Given the description of an element on the screen output the (x, y) to click on. 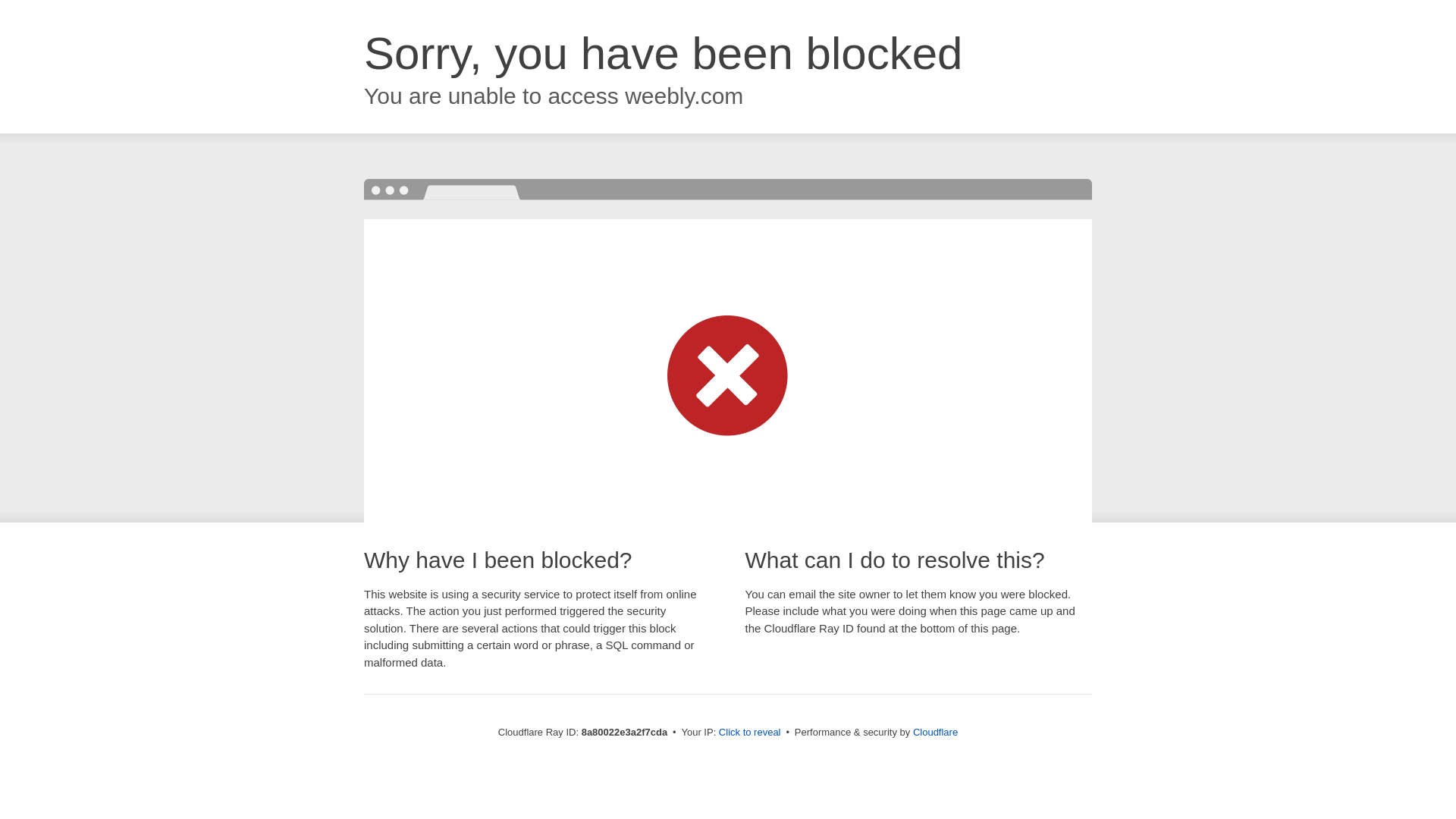
Cloudflare (935, 731)
Click to reveal (749, 732)
